Given the description of an element on the screen output the (x, y) to click on. 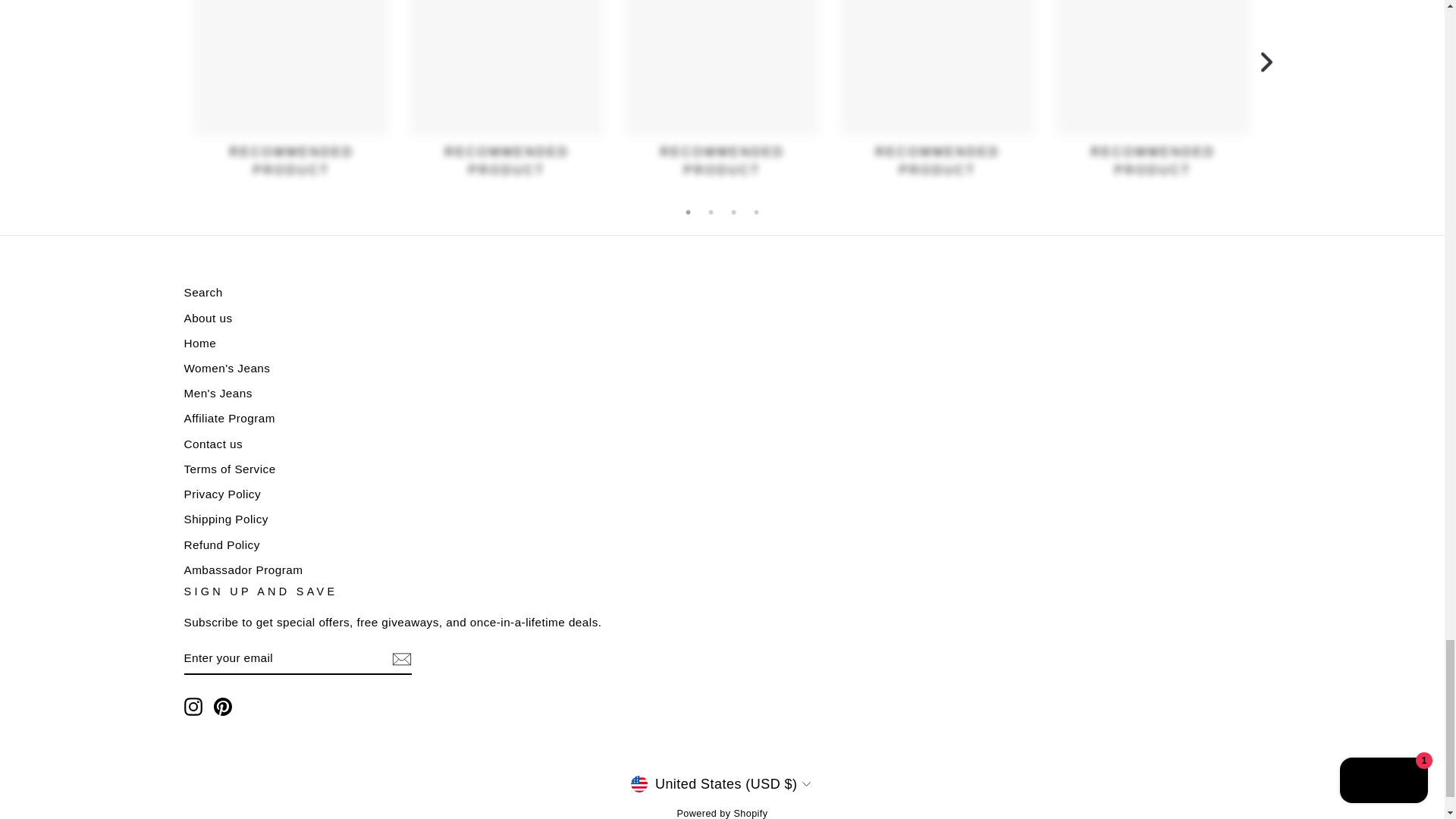
Jeans.com on Instagram (192, 706)
Jeans.com on Pinterest (222, 706)
